Given the description of an element on the screen output the (x, y) to click on. 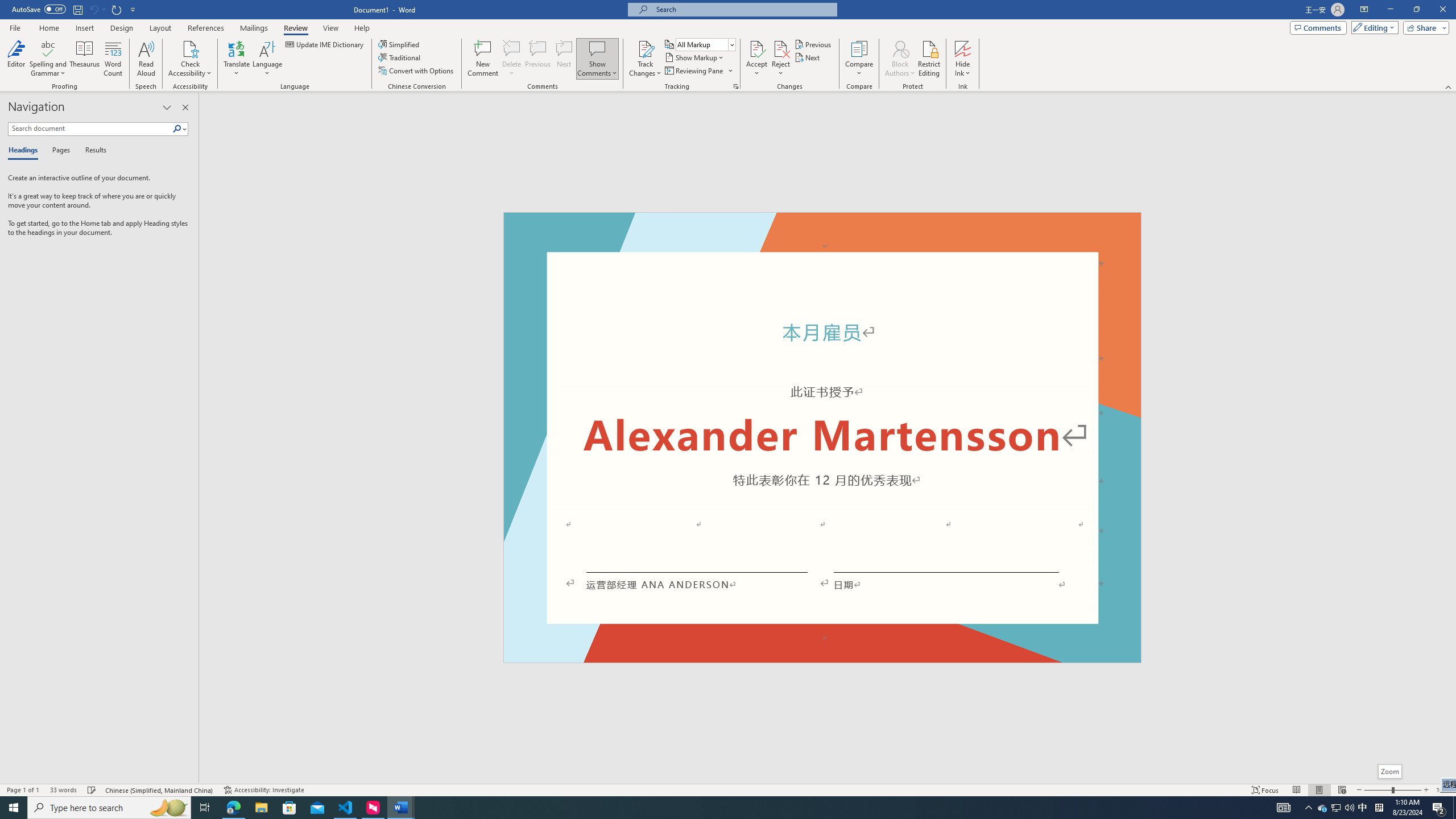
Accept and Move to Next (756, 48)
Traditional (400, 56)
Check Accessibility (189, 48)
